Given the description of an element on the screen output the (x, y) to click on. 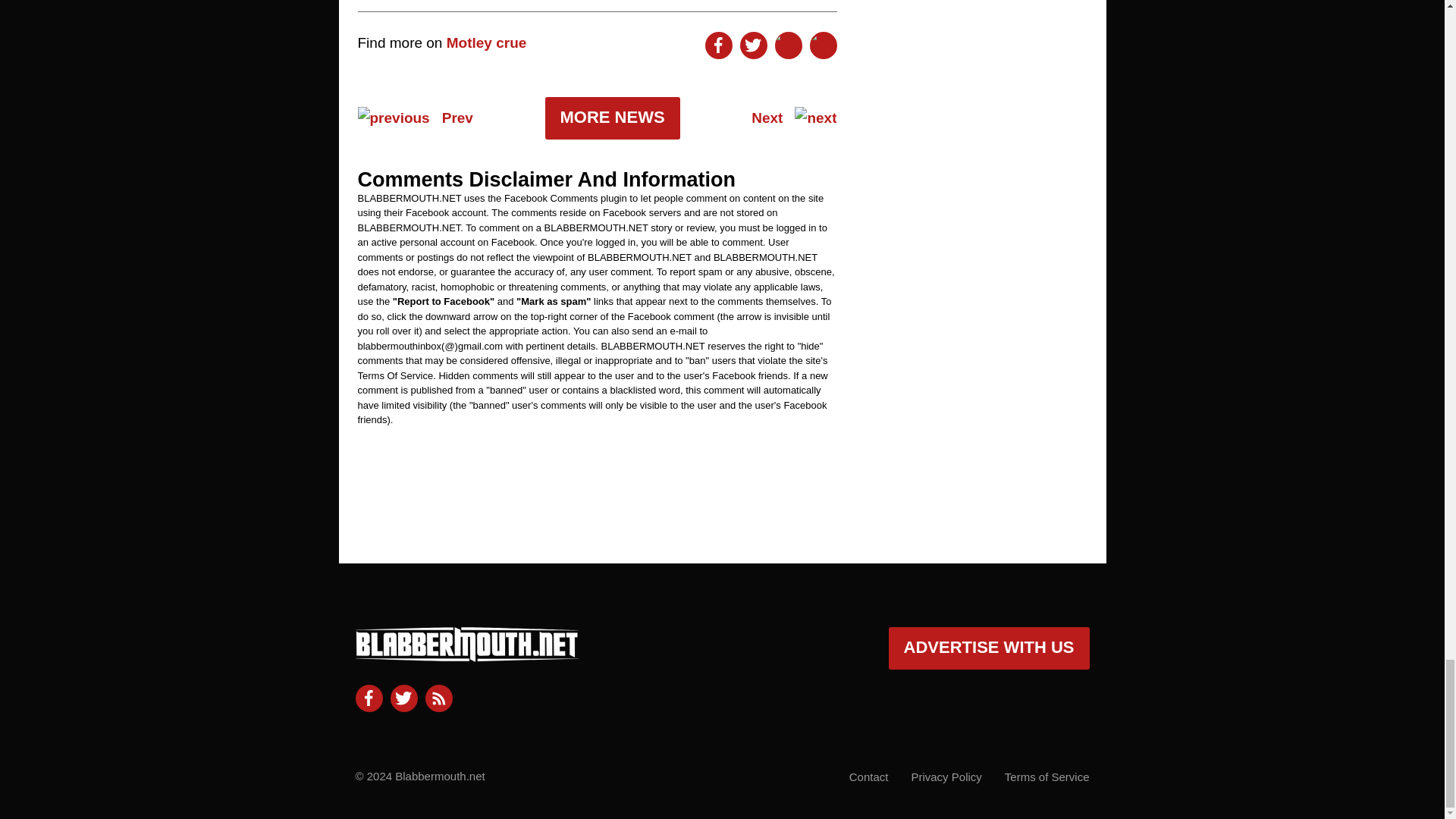
Share On Twitter (753, 44)
blabbermouth (466, 655)
Copy To Clipboard (823, 44)
Share On Reddit (788, 44)
Share On Facebook (718, 44)
